Given the description of an element on the screen output the (x, y) to click on. 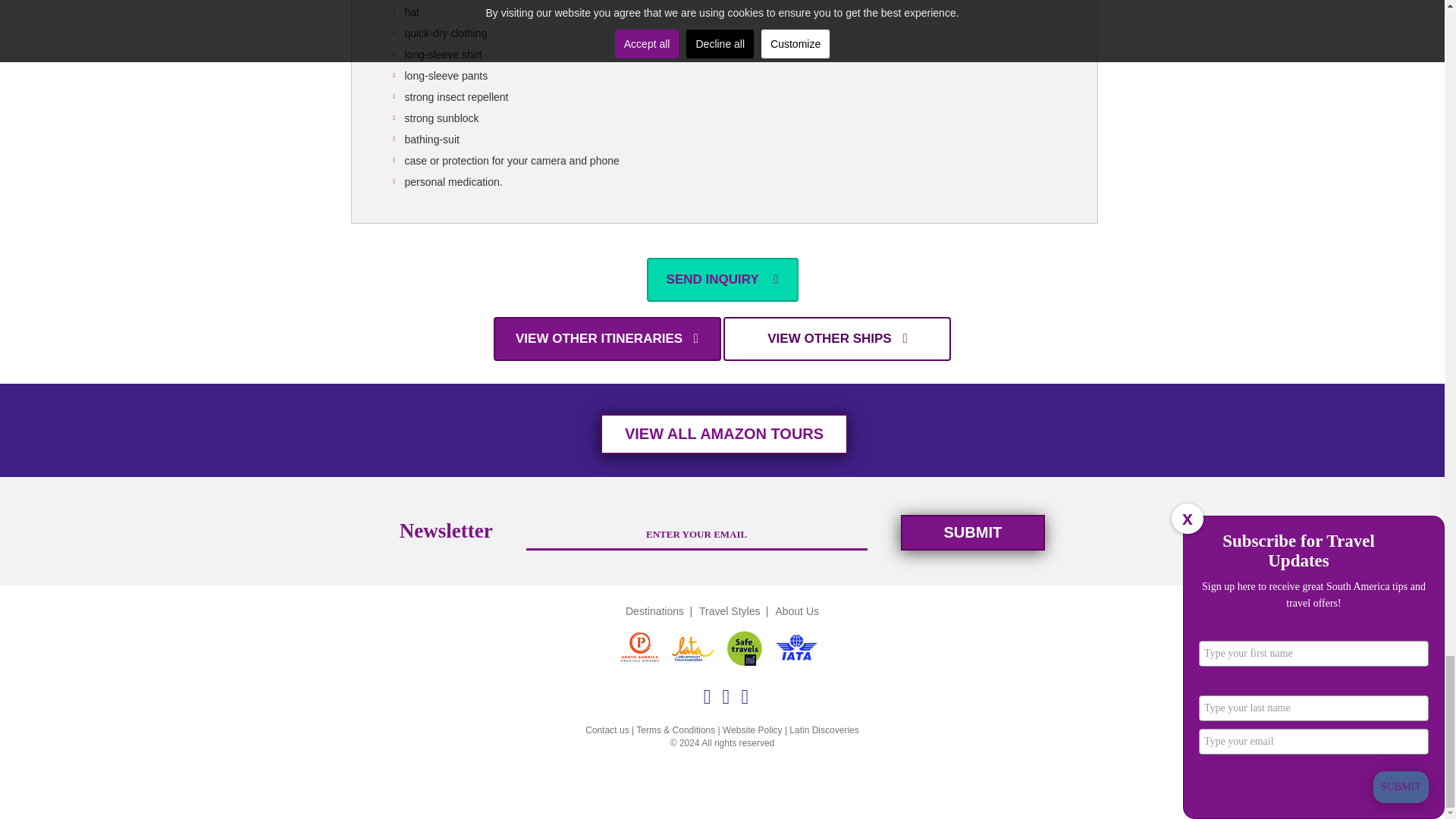
Submit (973, 532)
IATA (800, 648)
Safe Travels (748, 648)
South America Prestige Awards (644, 648)
Lata Association (695, 648)
